Given the description of an element on the screen output the (x, y) to click on. 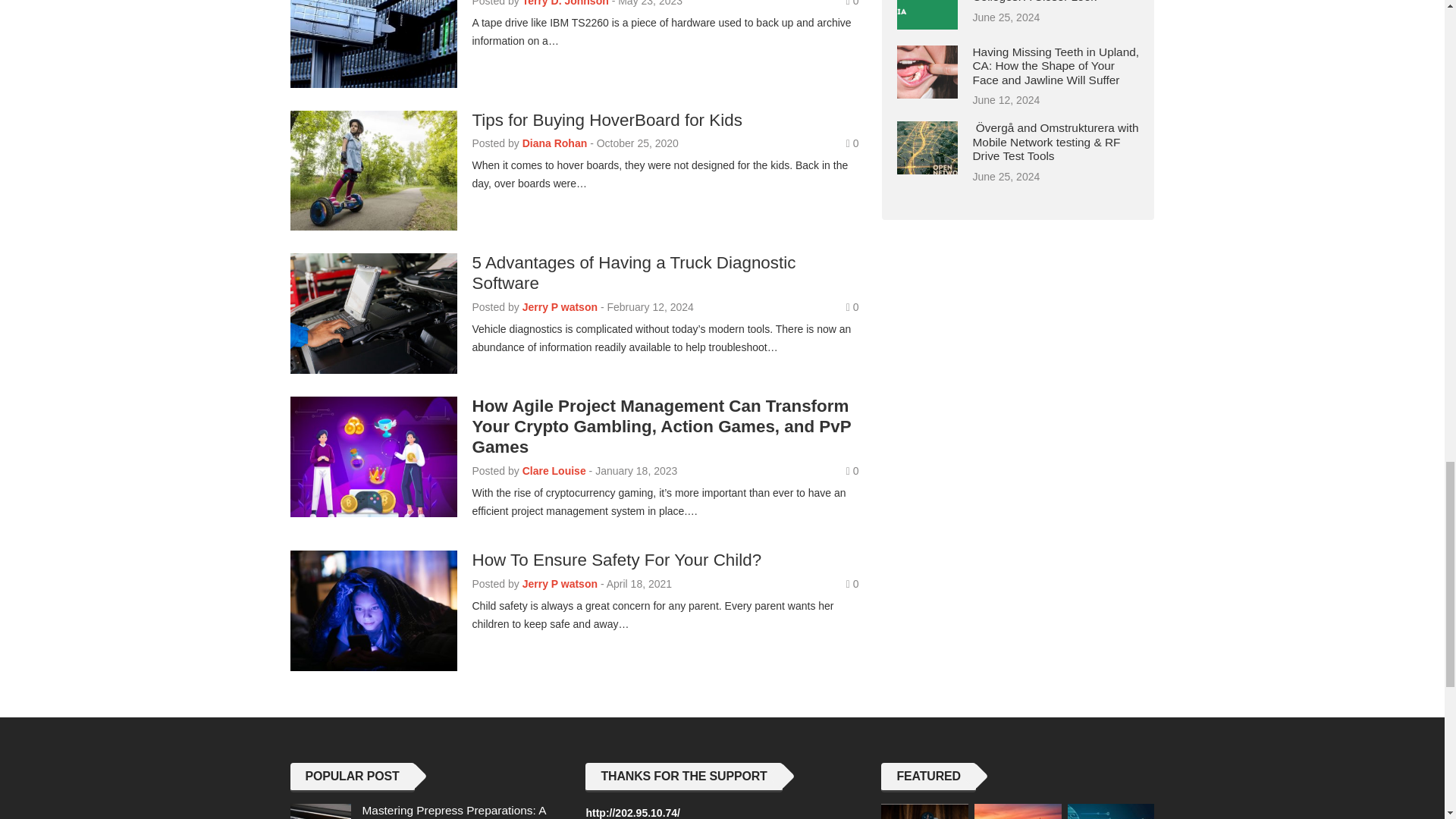
Posts by Terry D. Johnson (565, 2)
Posts by Diana Rohan (555, 143)
Posts by Jerry P watson (559, 583)
Posts by Clare Louise (554, 470)
Posts by Jerry P watson (559, 306)
